Given the description of an element on the screen output the (x, y) to click on. 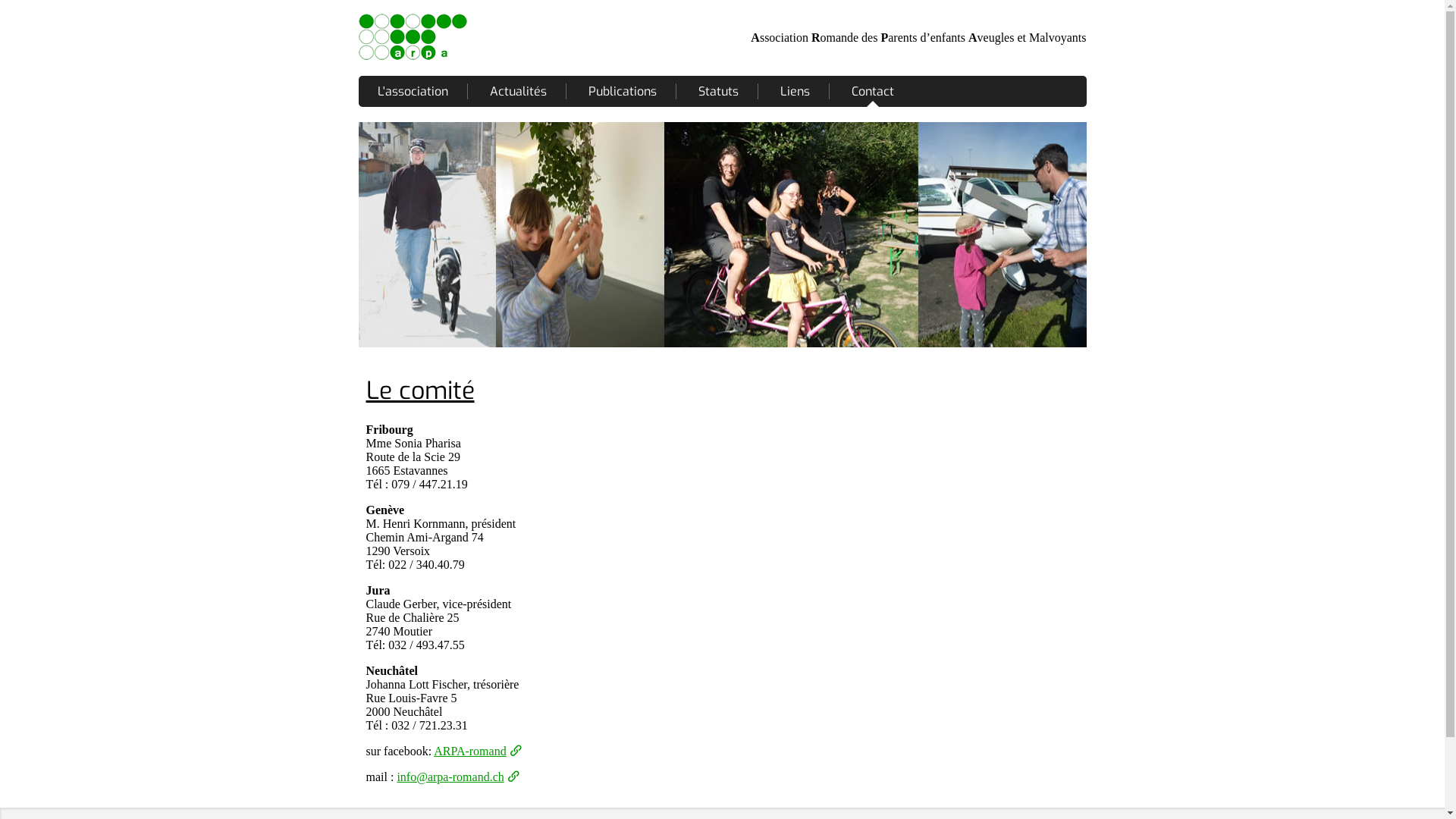
L'association Element type: text (412, 91)
Statuts Element type: text (717, 91)
info@arpa-romand.ch Element type: text (456, 776)
ARPA-romand Element type: text (476, 750)
Publications Element type: text (622, 91)
Liens Element type: text (794, 91)
Contact Element type: text (871, 91)
